Given the description of an element on the screen output the (x, y) to click on. 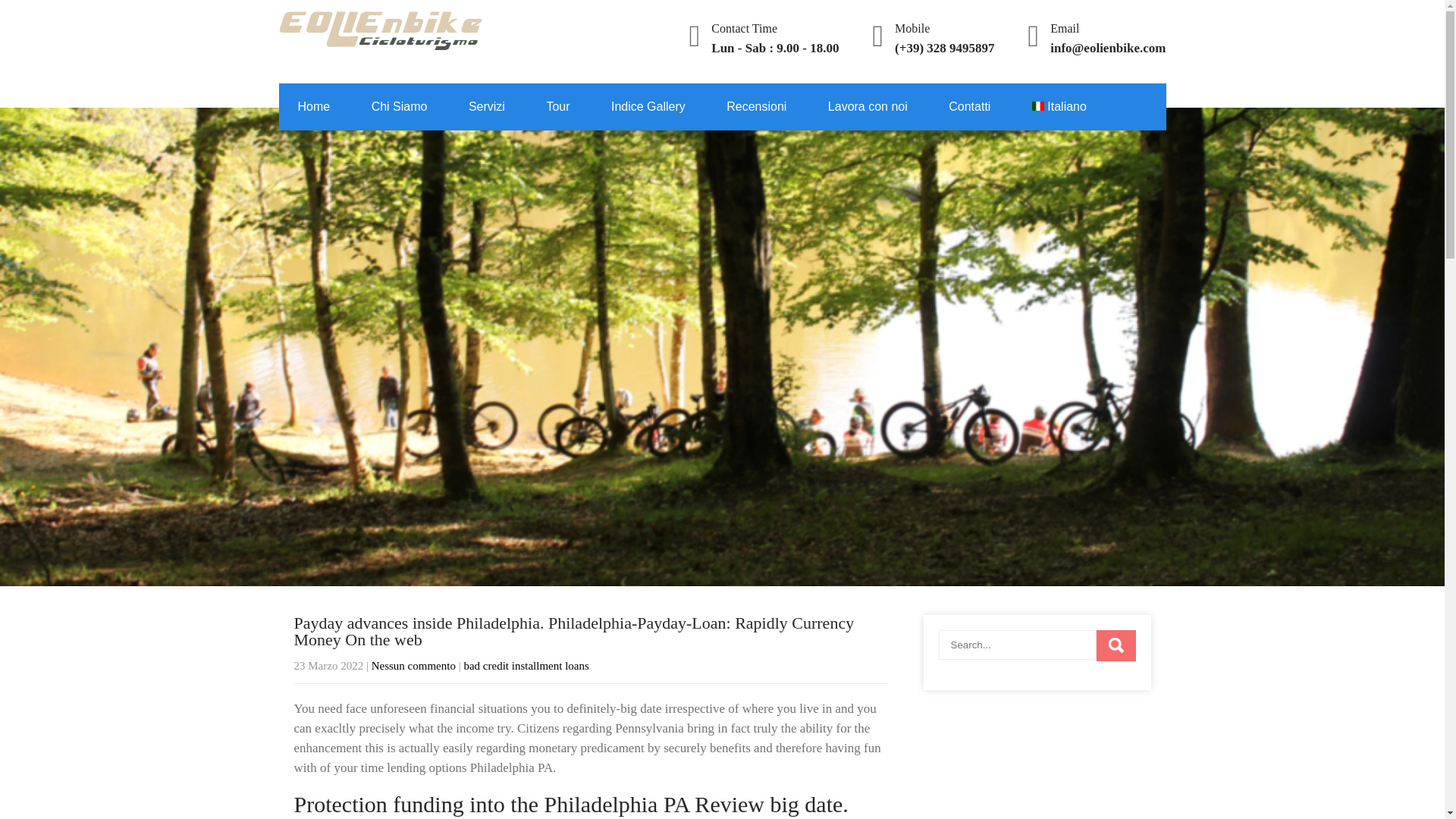
Servizi (486, 106)
Home (314, 106)
Search (1115, 644)
Chi Siamo (399, 106)
View all posts in bad credit installment loans (525, 665)
Search (1115, 644)
Indice Gallery (648, 106)
Tour (557, 106)
